Given the description of an element on the screen output the (x, y) to click on. 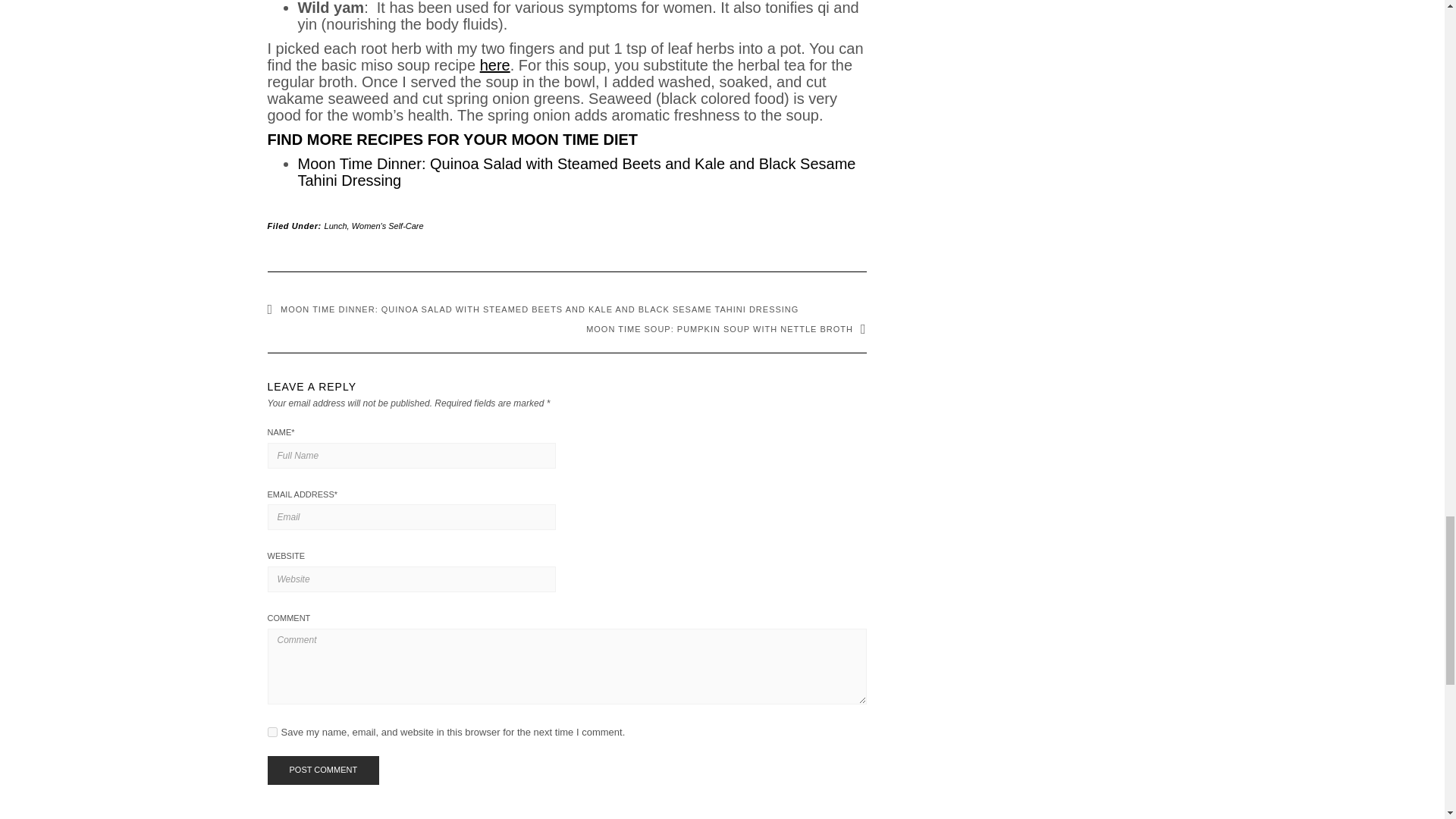
yes (271, 732)
MOON TIME SOUP: PUMPKIN SOUP WITH NETTLE BROTH (726, 328)
Post Comment (322, 769)
Lunch (335, 225)
Women's Self-Care (387, 225)
here (495, 64)
Post Comment (322, 769)
